Given the description of an element on the screen output the (x, y) to click on. 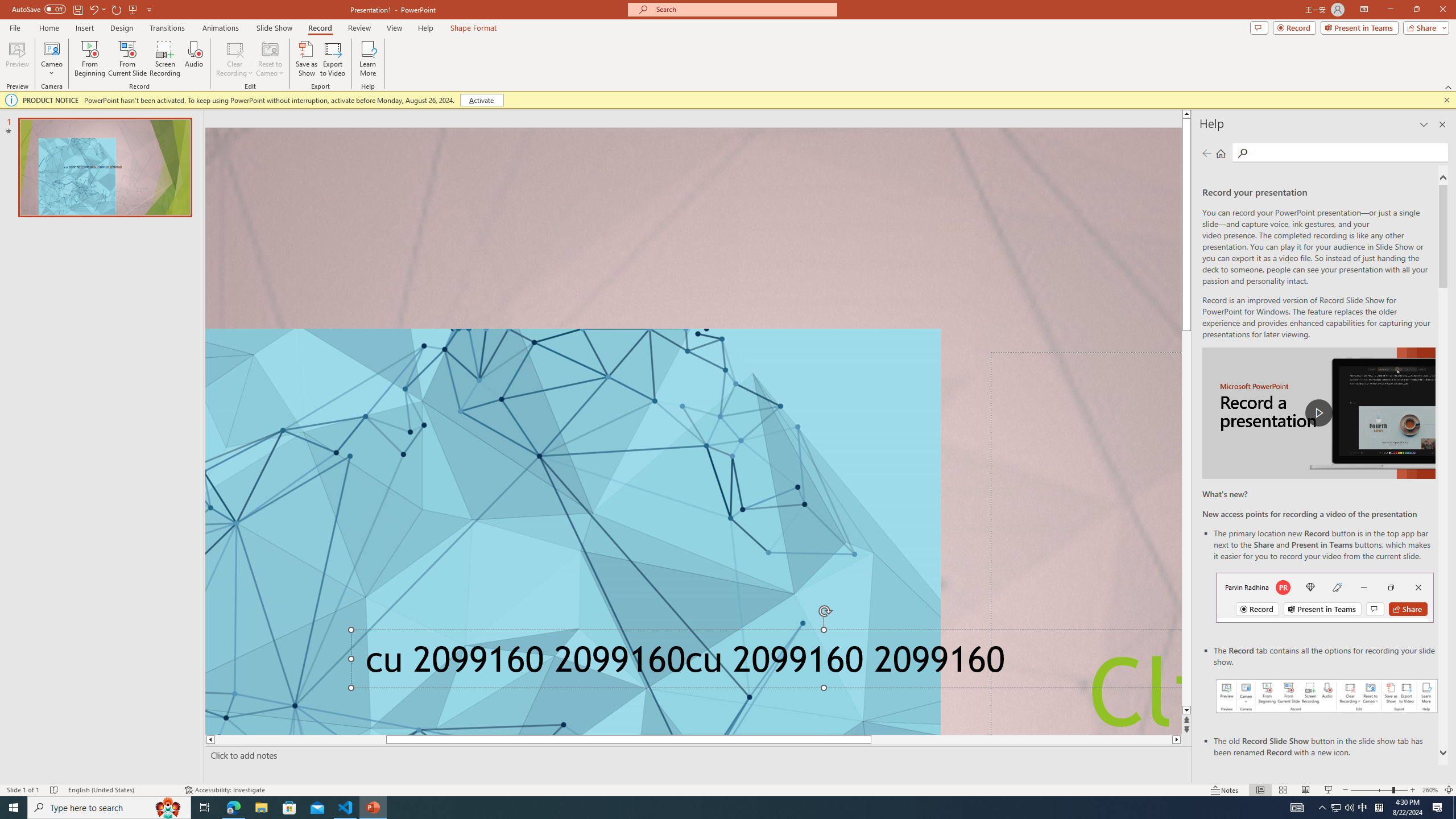
Save as Show (306, 58)
An abstract genetic concept (693, 430)
Screen Recording (165, 58)
Reset to Cameo (269, 58)
Clear Recording (234, 58)
Close this message (1446, 99)
